Given the description of an element on the screen output the (x, y) to click on. 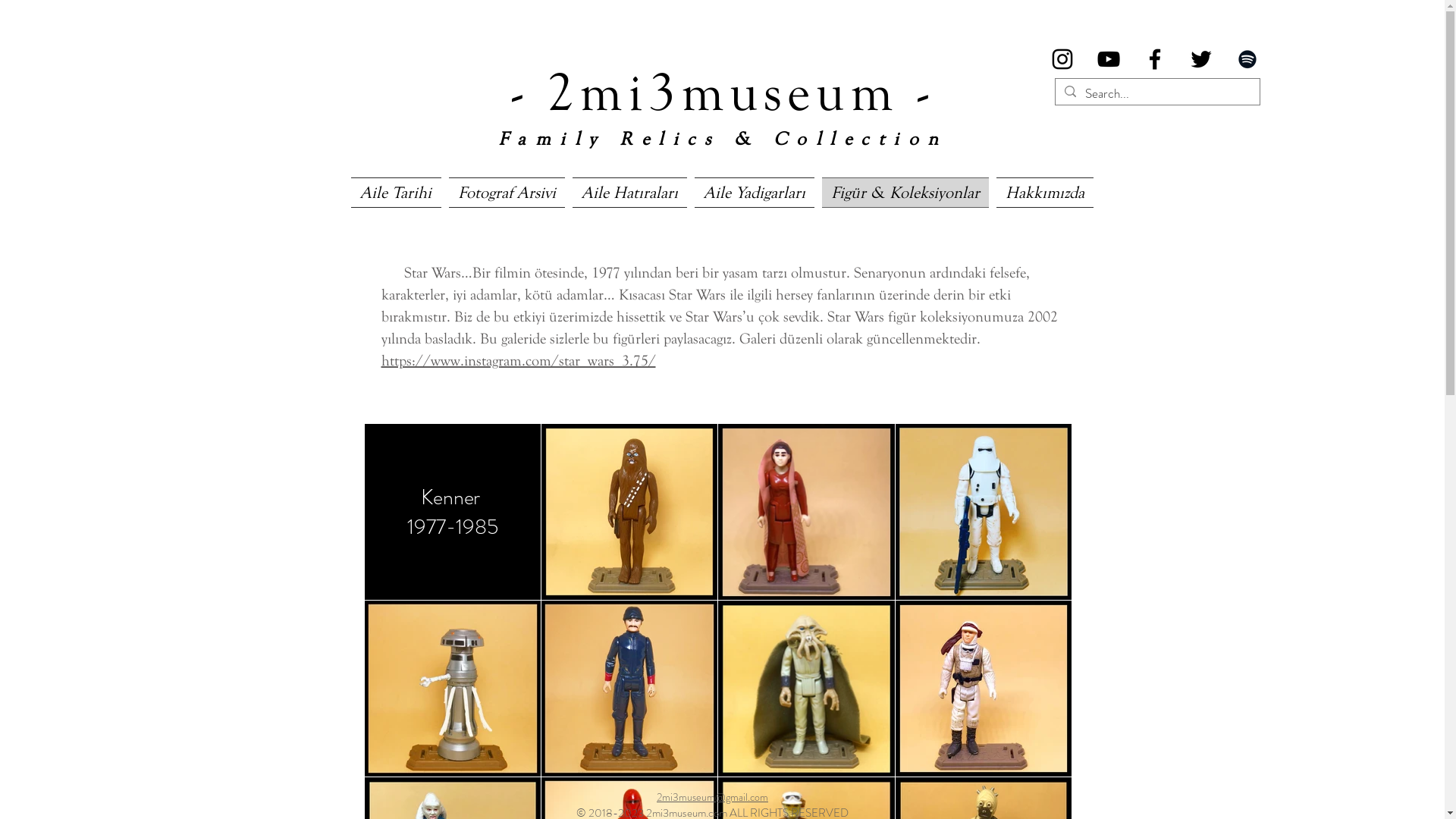
https://www.instagram.com/star_wars_3.75/ Element type: text (517, 360)
2mi3museum@gmail.com Element type: text (712, 796)
Aile Tarihi Element type: text (397, 192)
Fotograf Arsivi Element type: text (505, 192)
- 2mi3museum - Element type: text (722, 86)
